Given the description of an element on the screen output the (x, y) to click on. 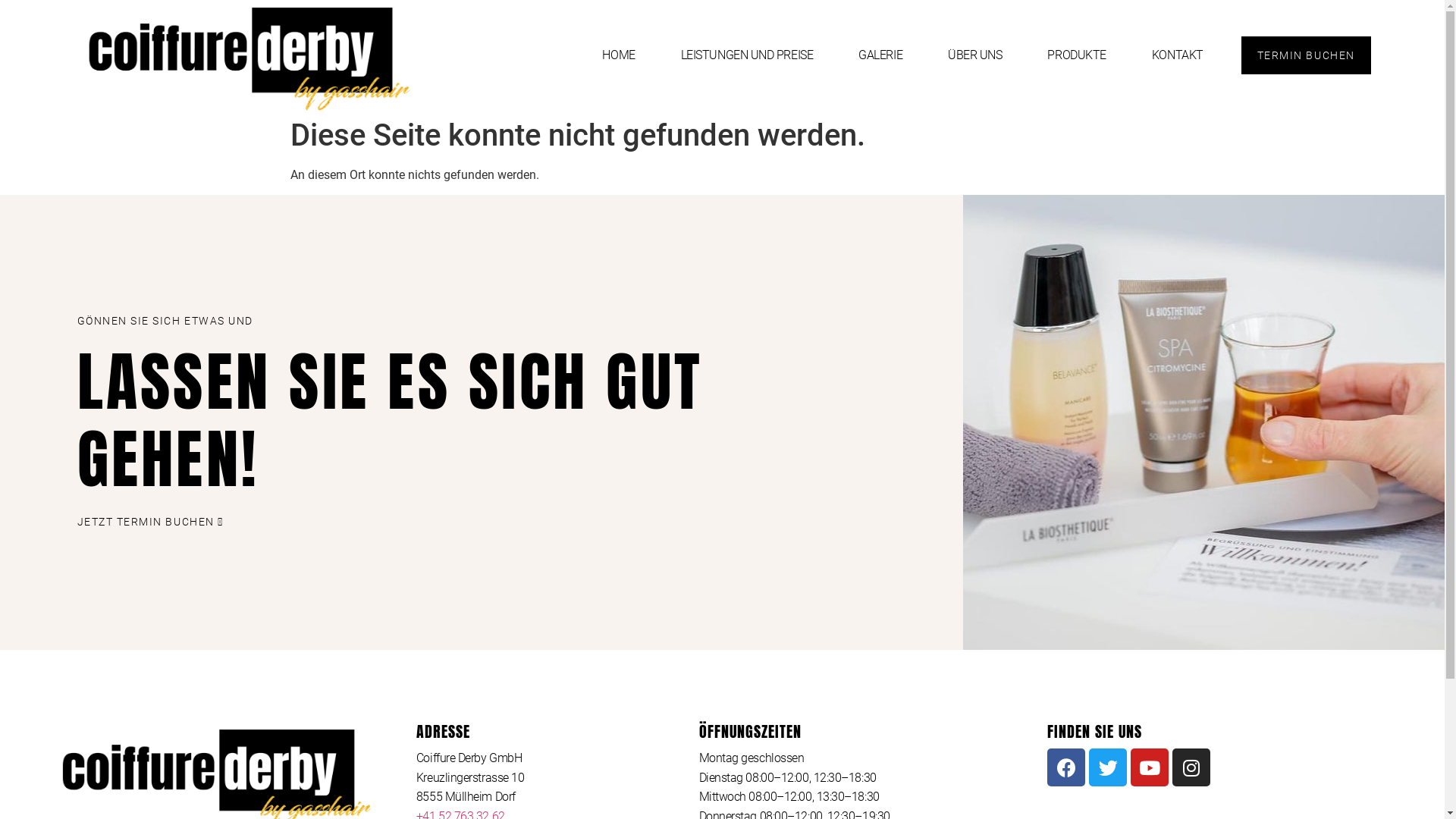
TERMIN BUCHEN Element type: text (1306, 55)
GALERIE Element type: text (880, 55)
HOME Element type: text (618, 55)
PRODUKTE Element type: text (1076, 55)
KONTAKT Element type: text (1177, 55)
LEISTUNGEN UND PREISE Element type: text (747, 55)
